Given the description of an element on the screen output the (x, y) to click on. 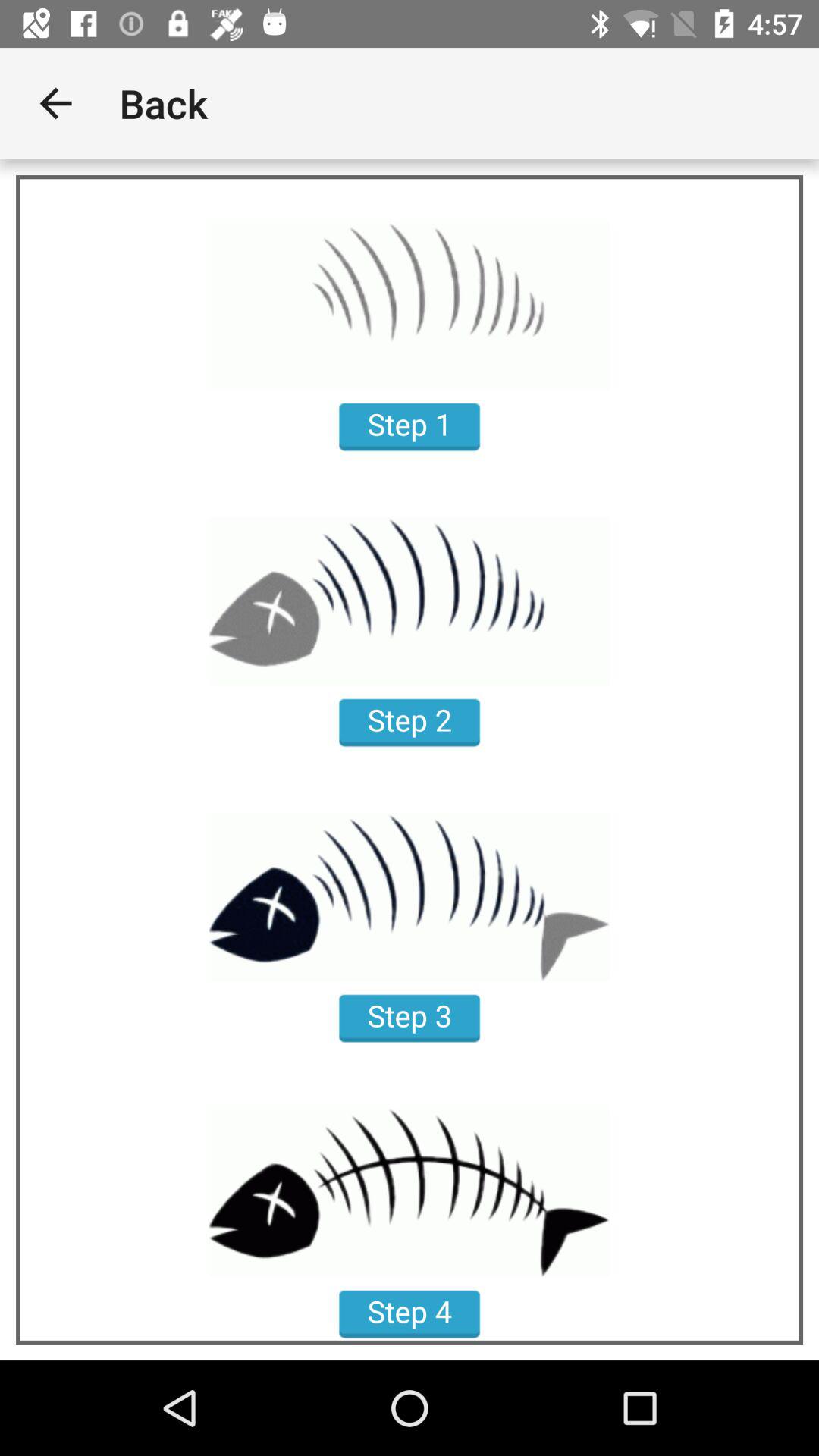
turn on the icon to the left of the back icon (55, 103)
